Given the description of an element on the screen output the (x, y) to click on. 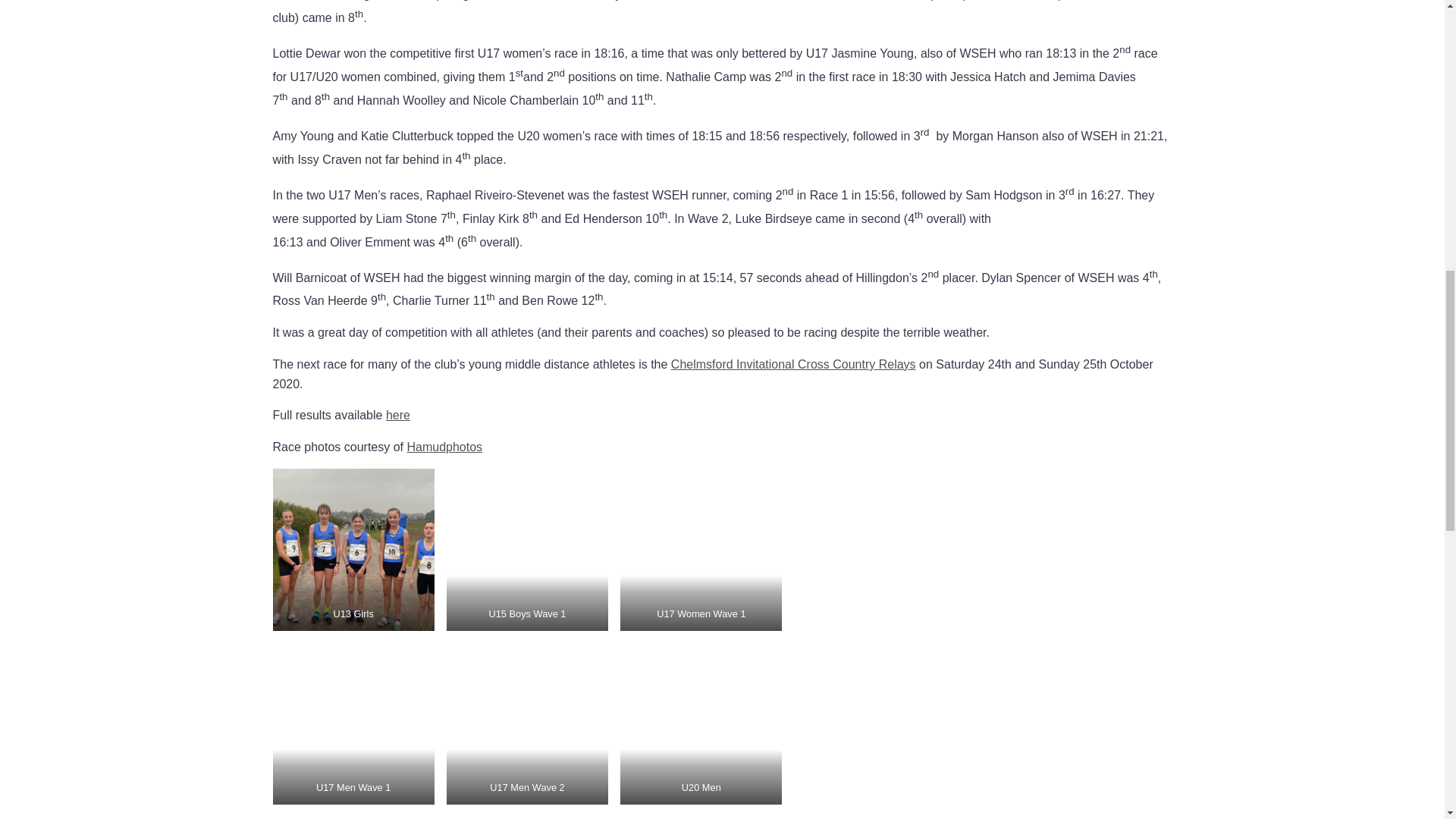
Chelmsford Invitational Cross Country Relays (793, 364)
here (397, 414)
Hamudphotos (443, 446)
